Given the description of an element on the screen output the (x, y) to click on. 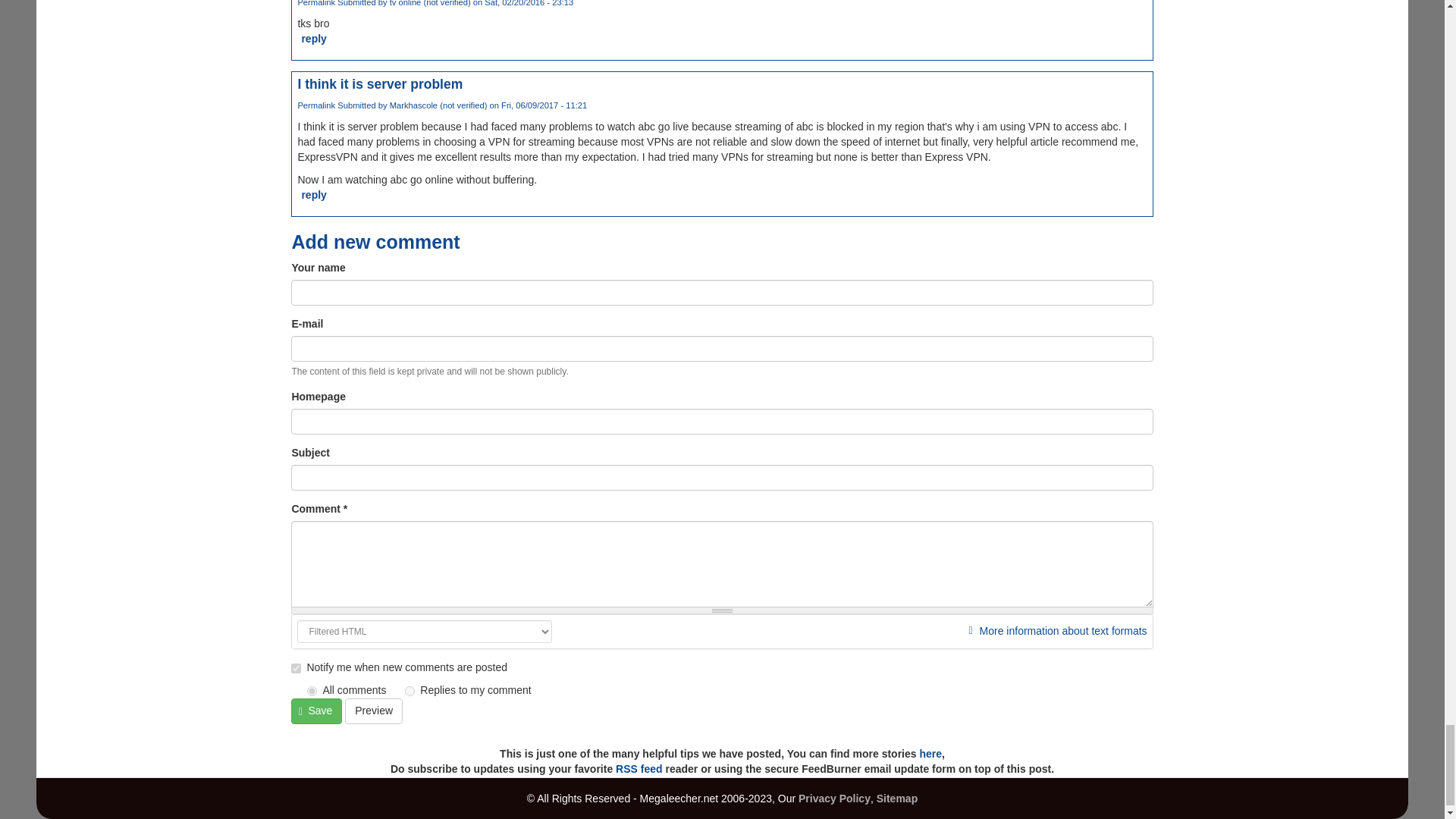
1 (296, 668)
2 (409, 691)
1 (312, 691)
